Given the description of an element on the screen output the (x, y) to click on. 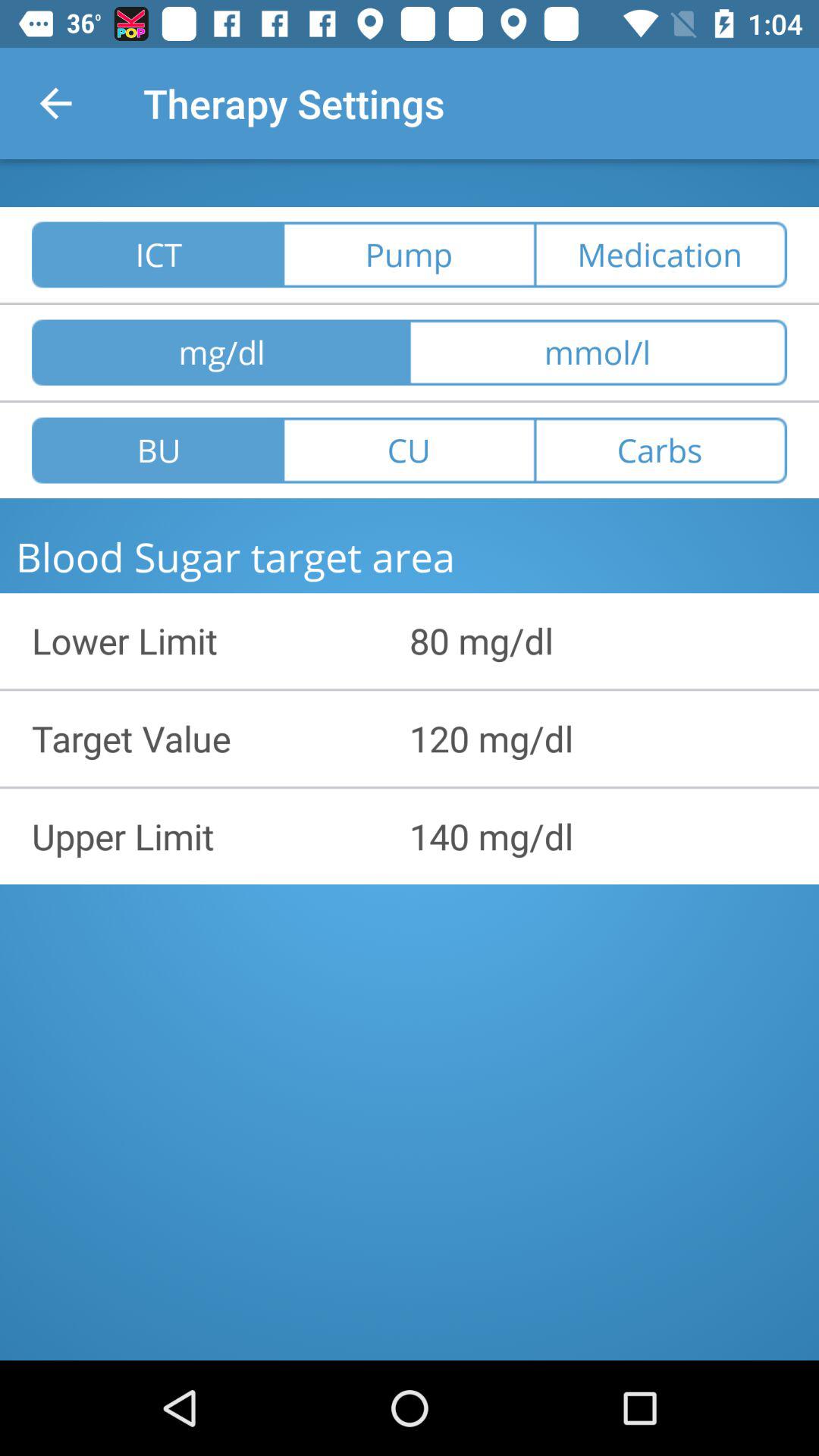
launch the pump item (409, 254)
